Given the description of an element on the screen output the (x, y) to click on. 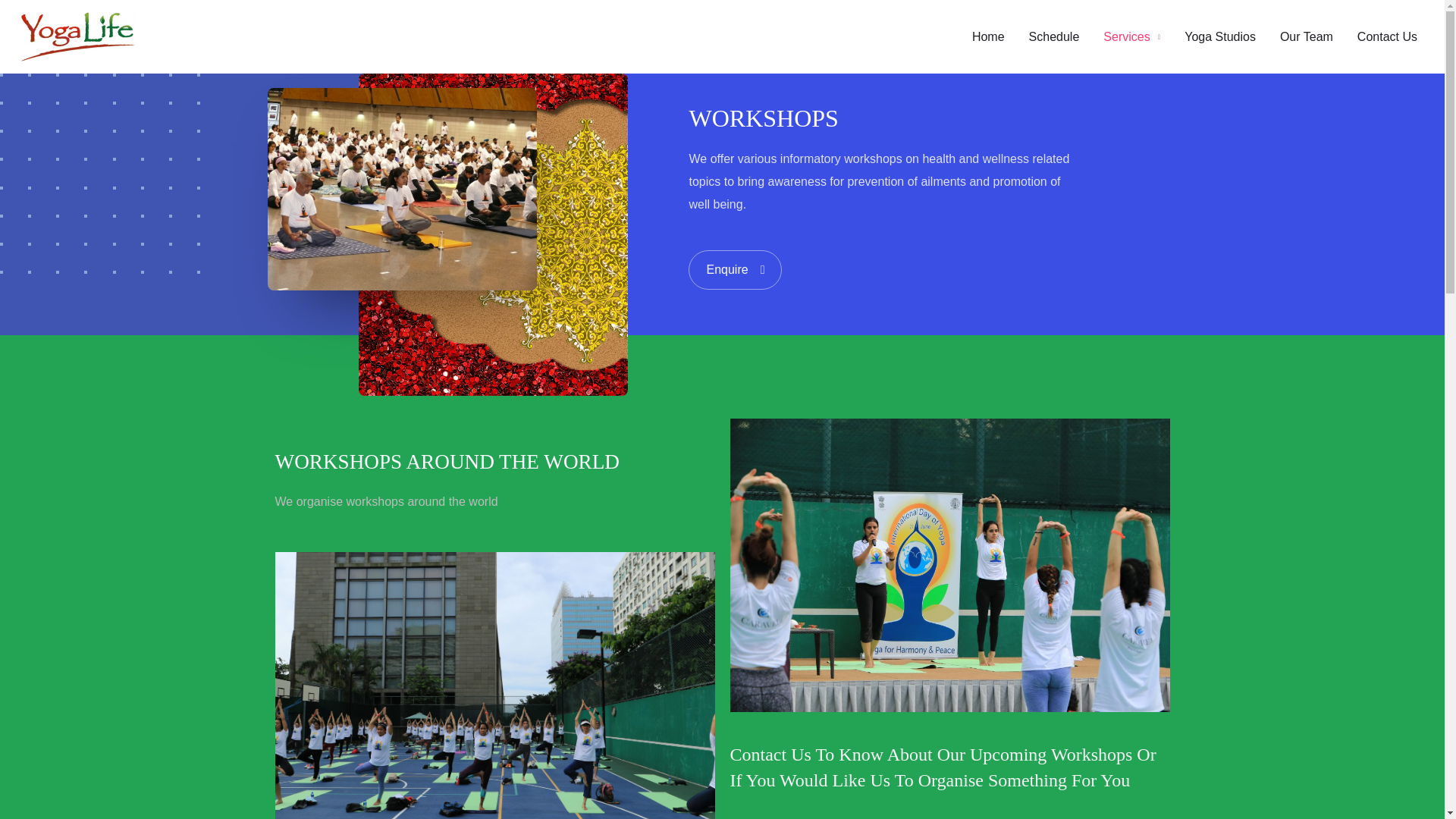
Yoga Studios (1220, 36)
Services (1131, 36)
Home (987, 36)
Our Team (1306, 36)
Schedule (1054, 36)
Enquire (734, 269)
Contact Us (1387, 36)
